Given the description of an element on the screen output the (x, y) to click on. 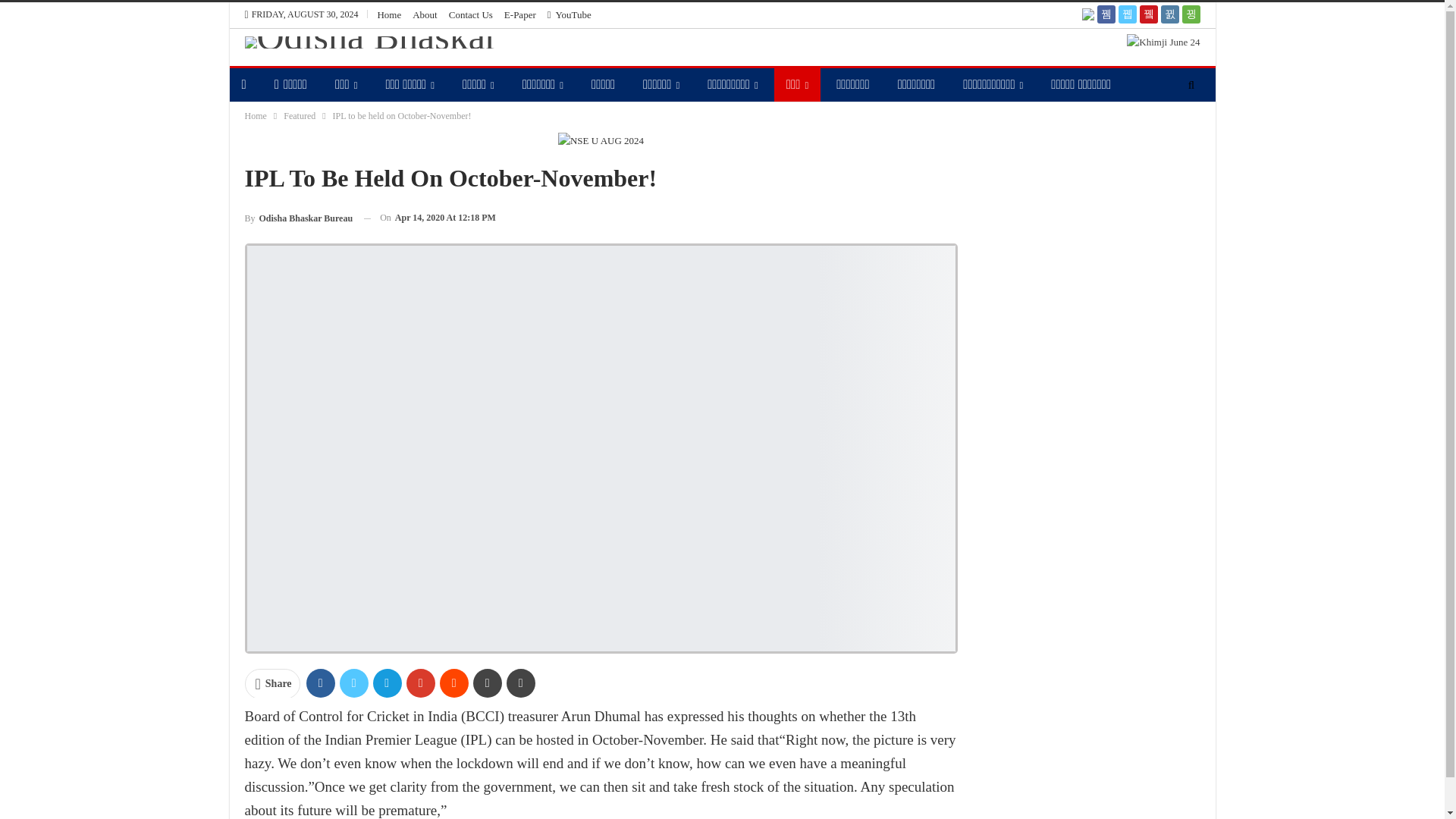
About (425, 14)
Contact Us (470, 14)
E-Paper (519, 14)
Browse Author Articles (298, 218)
YouTube (569, 14)
Home (389, 14)
